Given the description of an element on the screen output the (x, y) to click on. 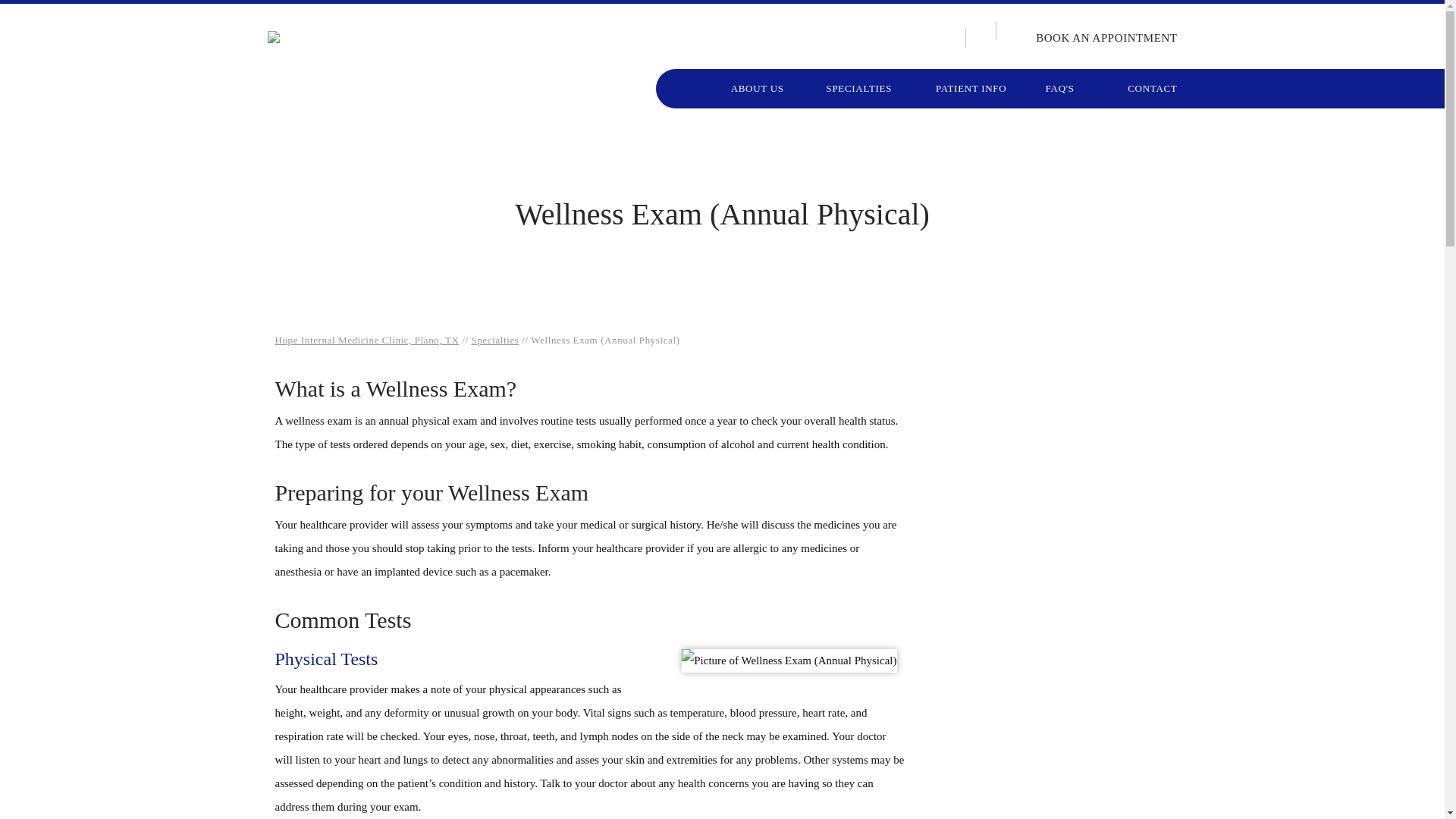
Meet Our Team (1055, 397)
PATIENT INFO (970, 88)
SPECIALTIES (858, 88)
Hope Internal Medicine Clinic, Plano, TX (366, 339)
ABOUT US (757, 88)
CONTACT (1134, 88)
FAQ'S (1059, 88)
BOOK AN APPOINTMENT (1093, 37)
HOME (684, 88)
Specialties (495, 339)
